Given the description of an element on the screen output the (x, y) to click on. 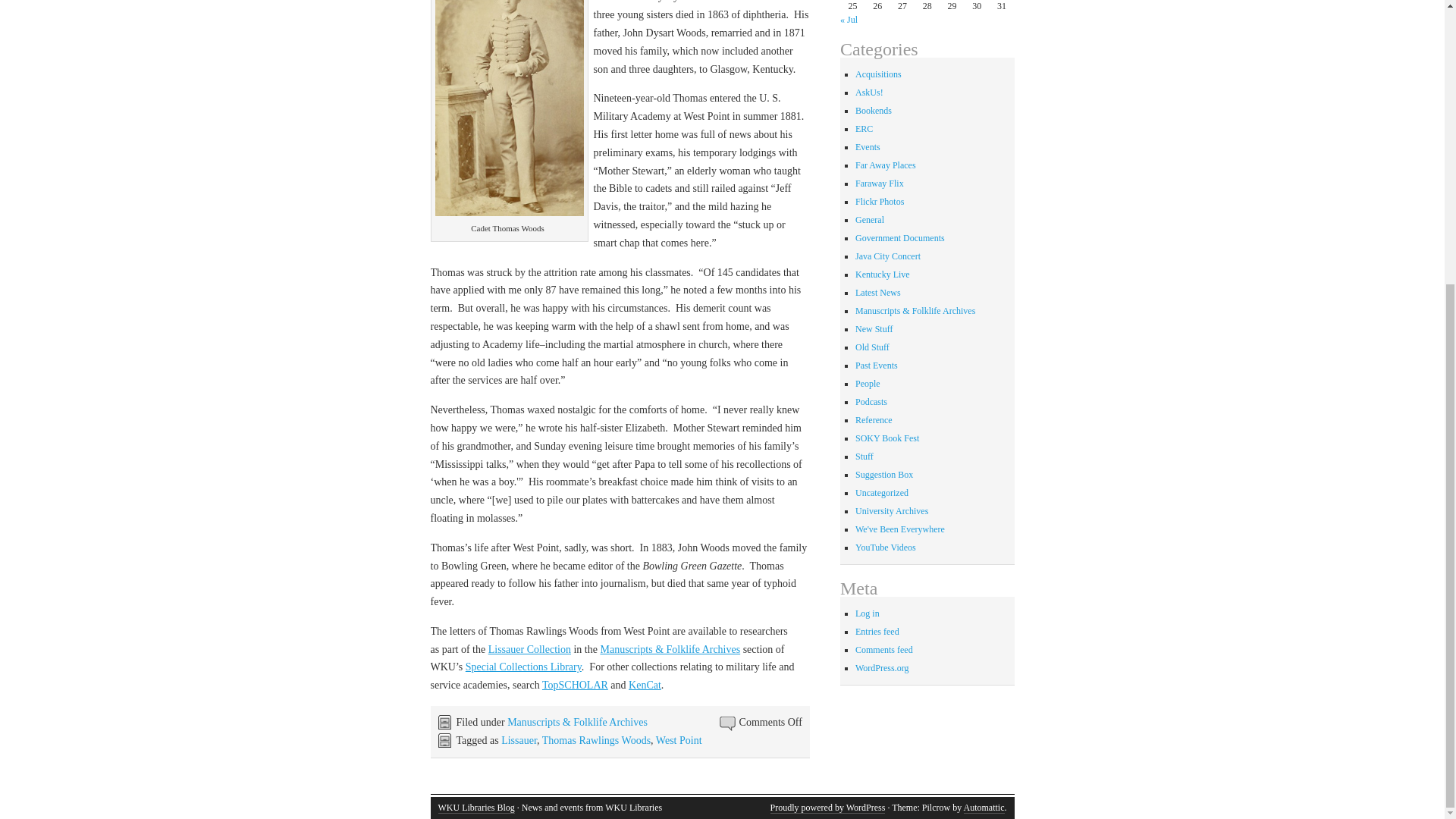
Kentucky Live (883, 274)
Podcasts (871, 401)
Java City Concert (888, 255)
KenCat (644, 685)
Latest News (878, 292)
Flickr Photos (880, 201)
AskUs! (869, 91)
SOKY Book Fest (887, 438)
Reference (874, 419)
Link to Special Collections Library (522, 666)
